Given the description of an element on the screen output the (x, y) to click on. 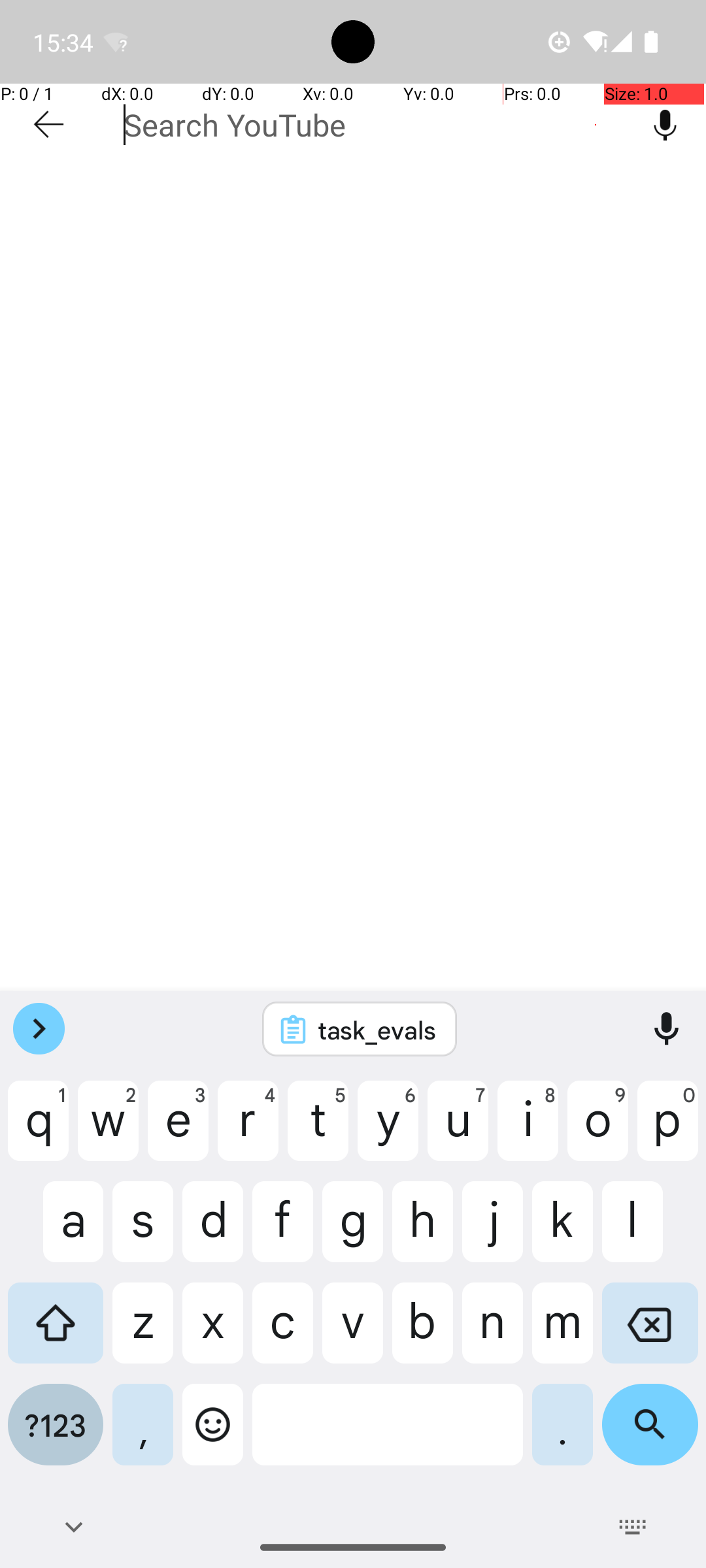
Search YouTube Element type: android.widget.EditText (373, 124)
task_evals Element type: android.widget.TextView (376, 1029)
